Given the description of an element on the screen output the (x, y) to click on. 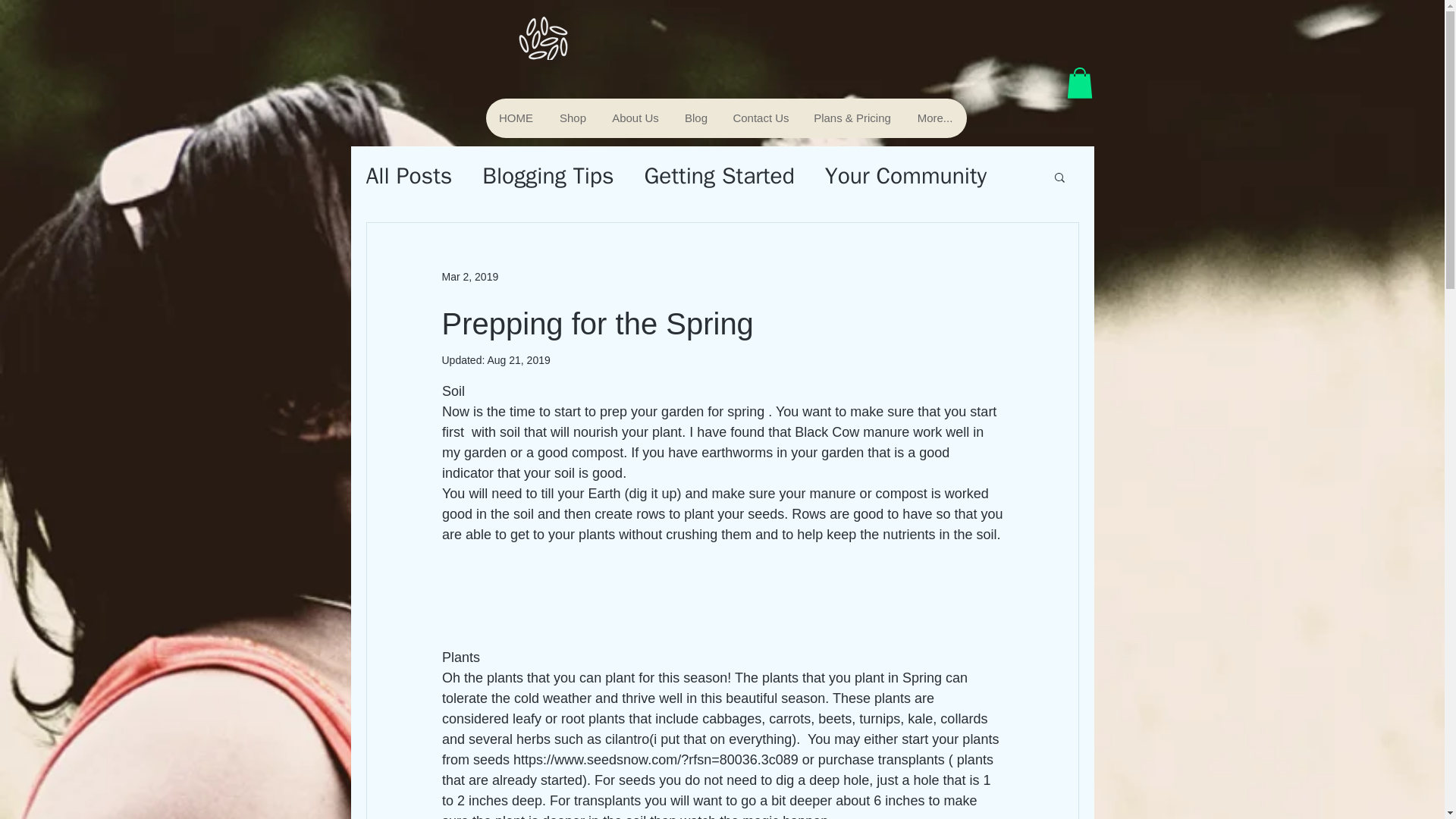
Shop (572, 118)
HOME (515, 118)
About Us (634, 118)
Getting Started (719, 175)
Aug 21, 2019 (518, 359)
Contact Us (761, 118)
Blog (695, 118)
All Posts (408, 175)
Mar 2, 2019 (469, 276)
Your Community (906, 175)
Blogging Tips (546, 175)
